Given the description of an element on the screen output the (x, y) to click on. 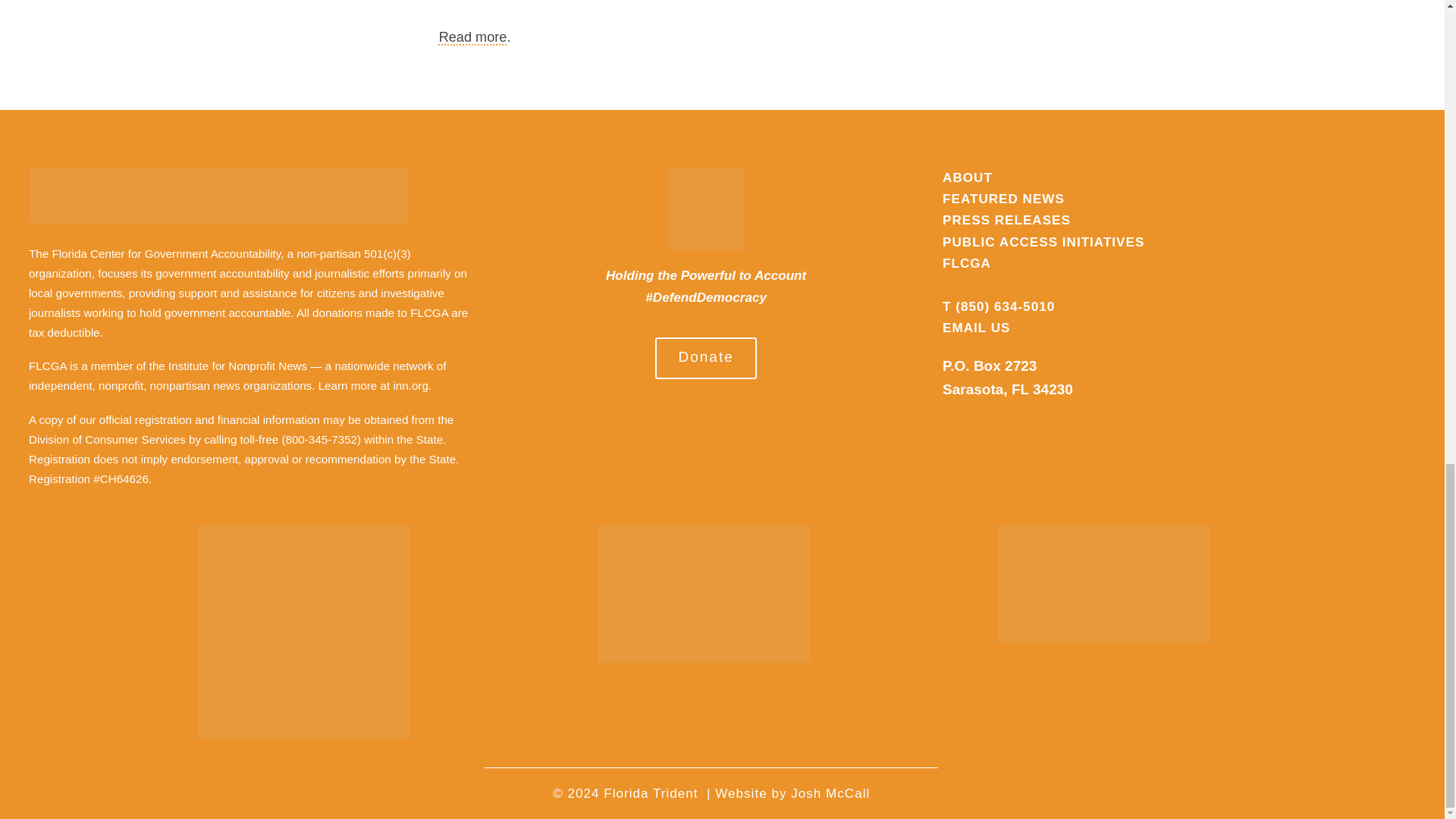
PUBLIC ACCESS INITIATIVES (1043, 242)
FLCGA (966, 263)
FEATURED NEWS (1003, 198)
PRESS RELEASES (1006, 219)
EMAIL US (976, 327)
Read more (472, 37)
The Florida Center for Government Accountability (155, 253)
ABOUT (967, 177)
inn.org (410, 385)
Donate (706, 358)
